Given the description of an element on the screen output the (x, y) to click on. 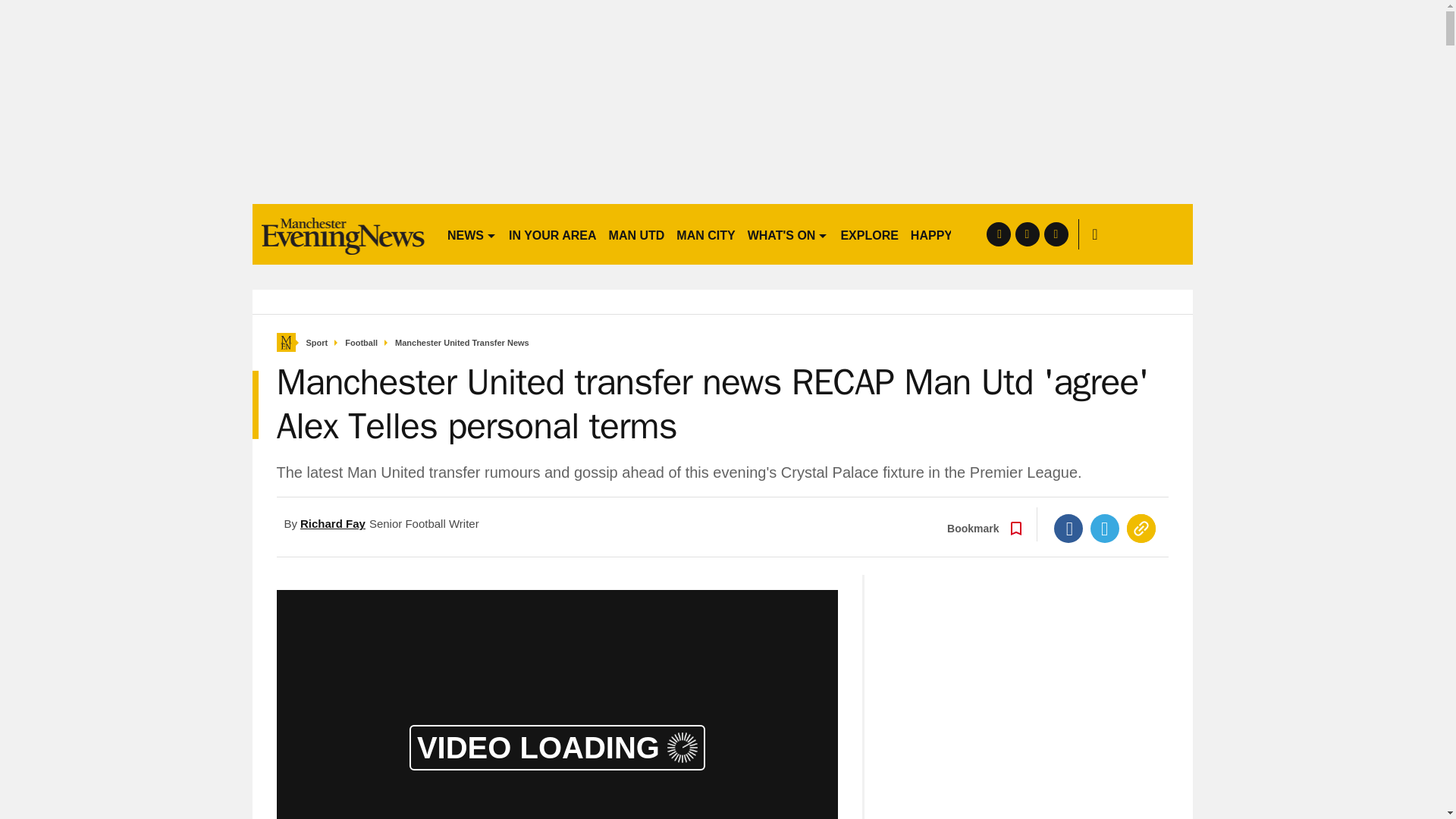
twitter (1026, 233)
NEWS (471, 233)
Twitter (1104, 528)
Facebook (1068, 528)
men (342, 233)
IN YOUR AREA (552, 233)
WHAT'S ON (787, 233)
instagram (1055, 233)
MAN UTD (636, 233)
MAN CITY (705, 233)
facebook (997, 233)
